Given the description of an element on the screen output the (x, y) to click on. 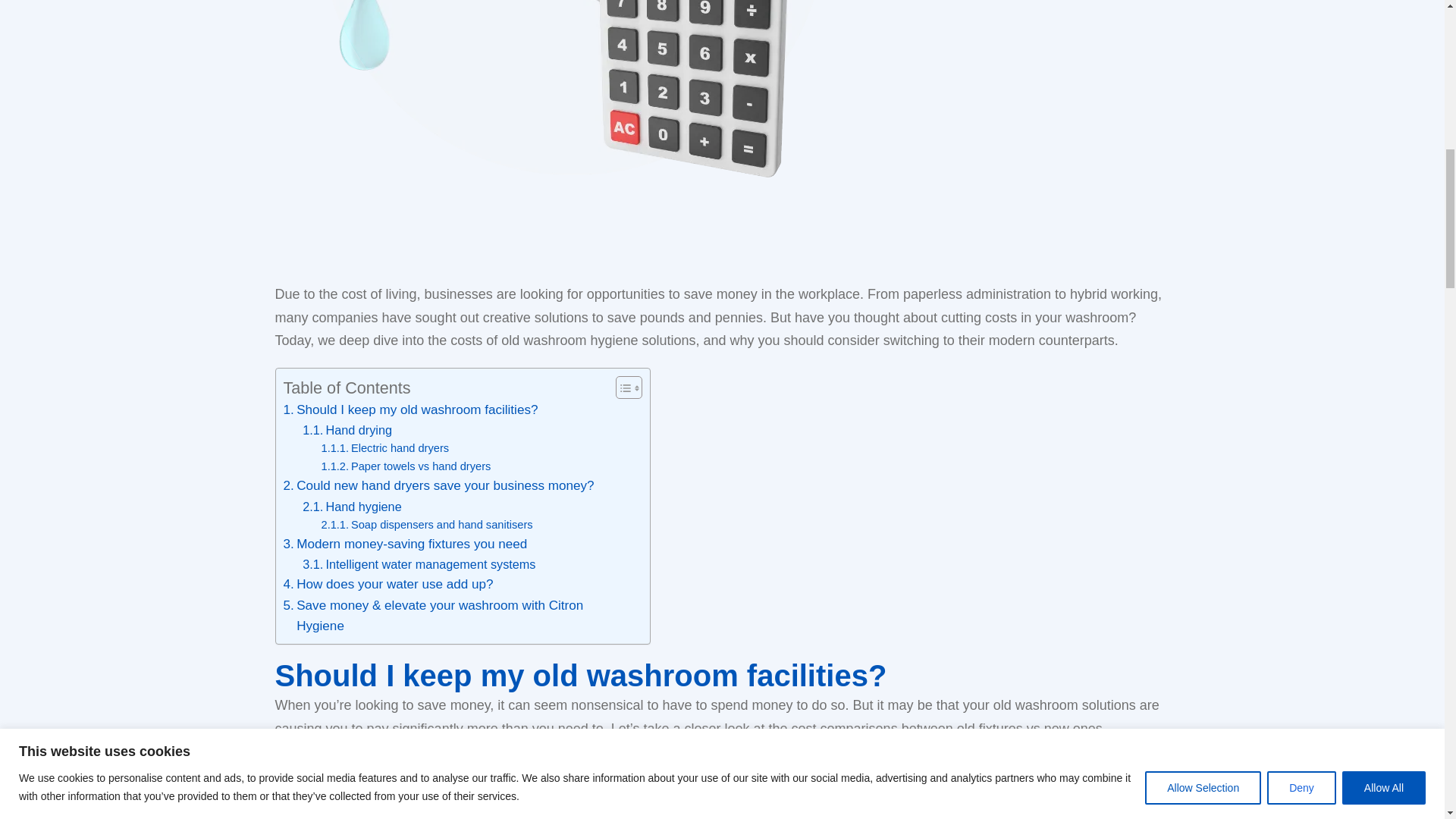
Hand drying (346, 429)
Could new hand dryers save your business money? (438, 485)
Intelligent water management systems (418, 564)
How does your water use add up? (388, 584)
Paper towels vs hand dryers (406, 466)
Soap dispensers and hand sanitisers (426, 524)
Electric hand dryers (385, 448)
Hand hygiene (351, 506)
Modern money-saving fixtures you need (405, 543)
Should I keep my old washroom facilities? (410, 409)
